Given the description of an element on the screen output the (x, y) to click on. 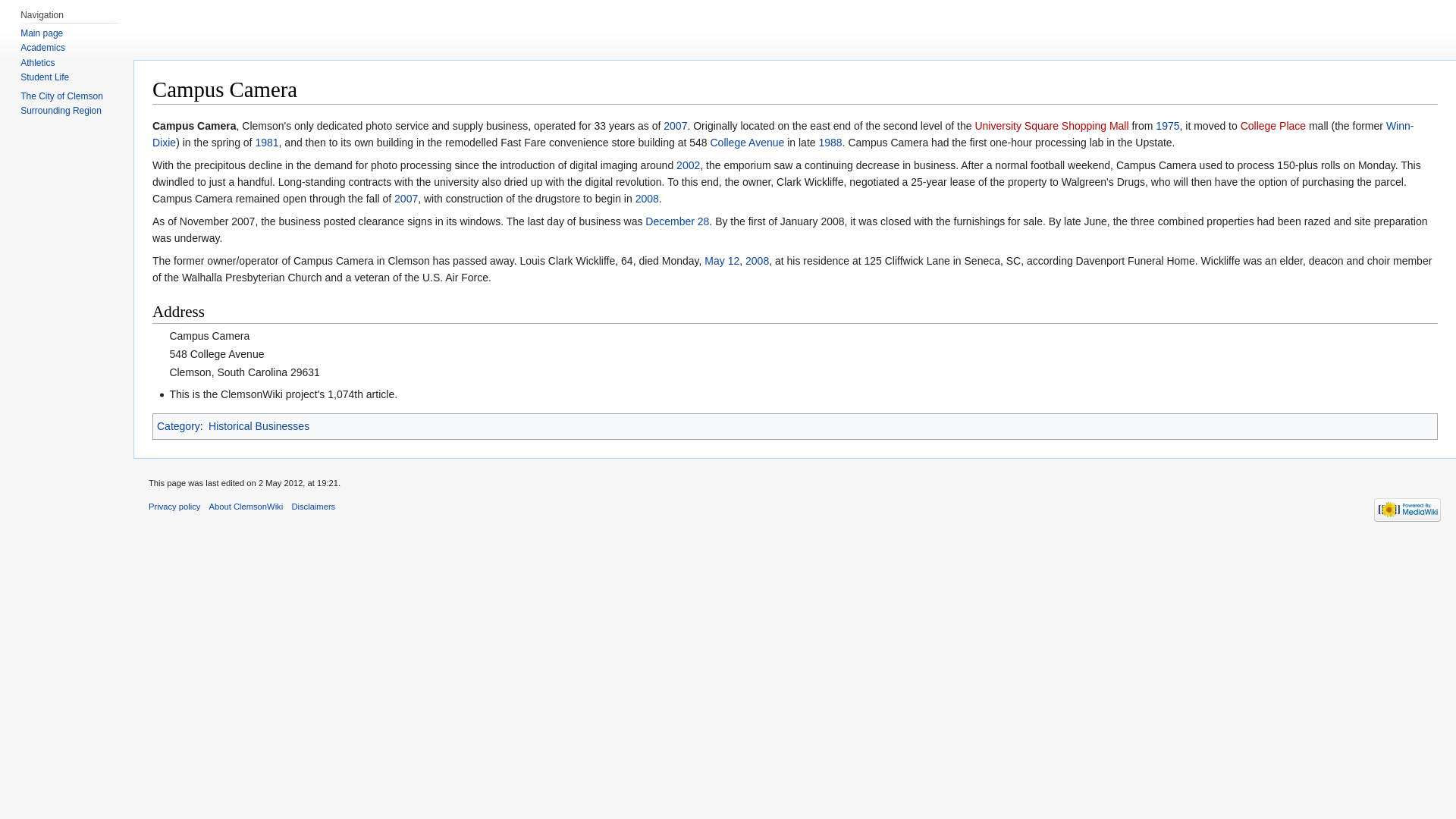
Disclaimers (312, 506)
1988 (829, 142)
Campus Camera (193, 125)
Athletics (37, 62)
1975 (1167, 125)
College Avenue (747, 142)
1981 (266, 142)
Winn-Dixie (782, 133)
2002 (688, 164)
Category:Student Life (44, 77)
Surrounding Region (60, 110)
2007 (405, 198)
2008 (756, 260)
May 12 (721, 260)
College Place (1273, 125)
